Given the description of an element on the screen output the (x, y) to click on. 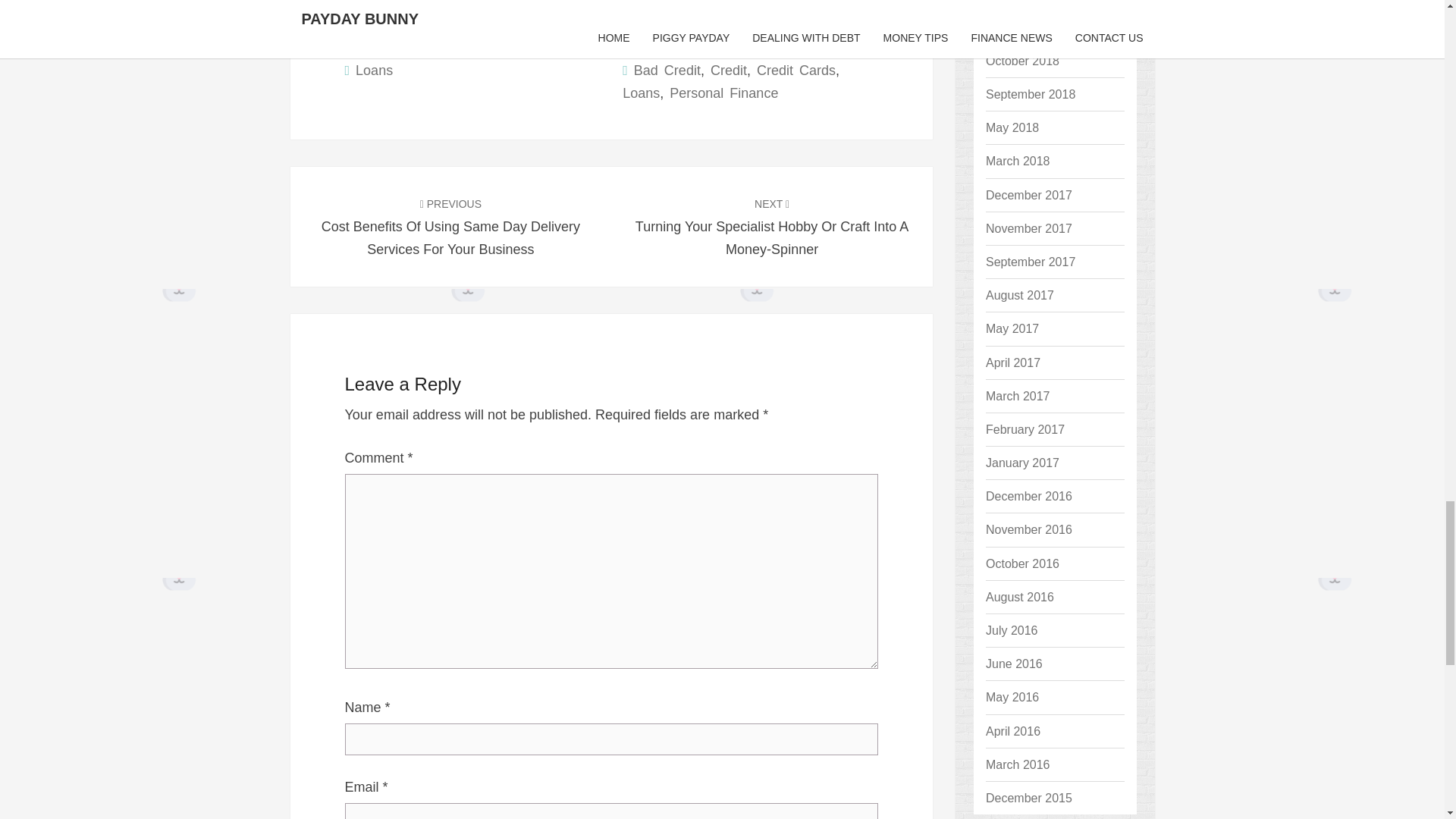
Personal Finance (723, 92)
Bad Credit (666, 70)
Credit Cards (796, 70)
Loans (641, 92)
Credit (728, 70)
Budgeting and Money Management (541, 5)
Loans (374, 70)
